Given the description of an element on the screen output the (x, y) to click on. 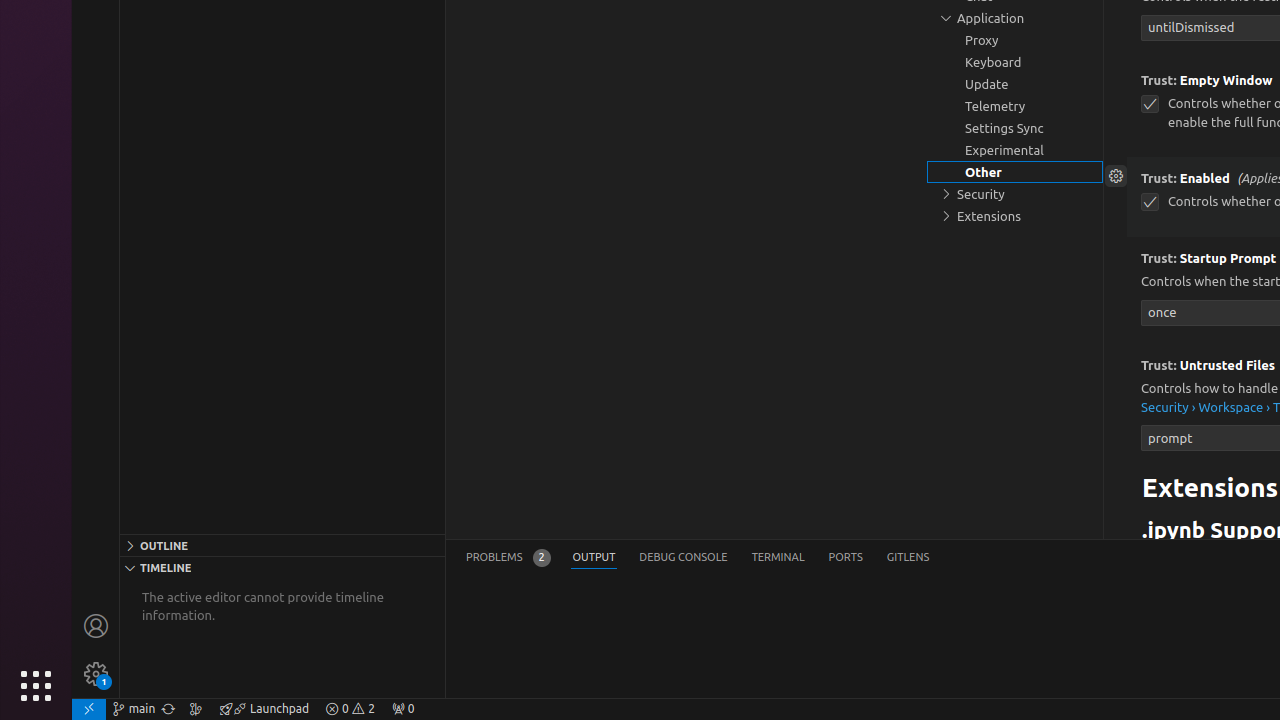
rocket gitlens-unplug Launchpad, GitLens Launchpad ᴘʀᴇᴠɪᴇᴡ    &mdash;    [$(question)](command:gitlens.launchpad.indicator.action?%22info%22 "What is this?") [$(gear)](command:workbench.action.openSettings?%22gitlens.launchpad%22 "Settings")  |  [$(circle-slash) Hide](command:gitlens.launchpad.indicator.action?%22hide%22 "Hide") --- [Launchpad](command:gitlens.launchpad.indicator.action?%info%22 "Learn about Launchpad") organizes your pull requests into actionable groups to help you focus and keep your team unblocked. It's always accessible using the `GitLens: Open Launchpad` command from the Command Palette. --- [Connect an integration](command:gitlens.showLaunchpad?%7B%22source%22%3A%22launchpad-indicator%22%7D "Connect an integration") to get started. Element type: push-button (264, 709)
Debug Console (Ctrl+Shift+Y) Element type: page-tab (683, 557)
Application, group Element type: tree-item (1015, 18)
Show the GitLens Commit Graph Element type: push-button (196, 709)
Telemetry, group Element type: tree-item (1015, 106)
